Given the description of an element on the screen output the (x, y) to click on. 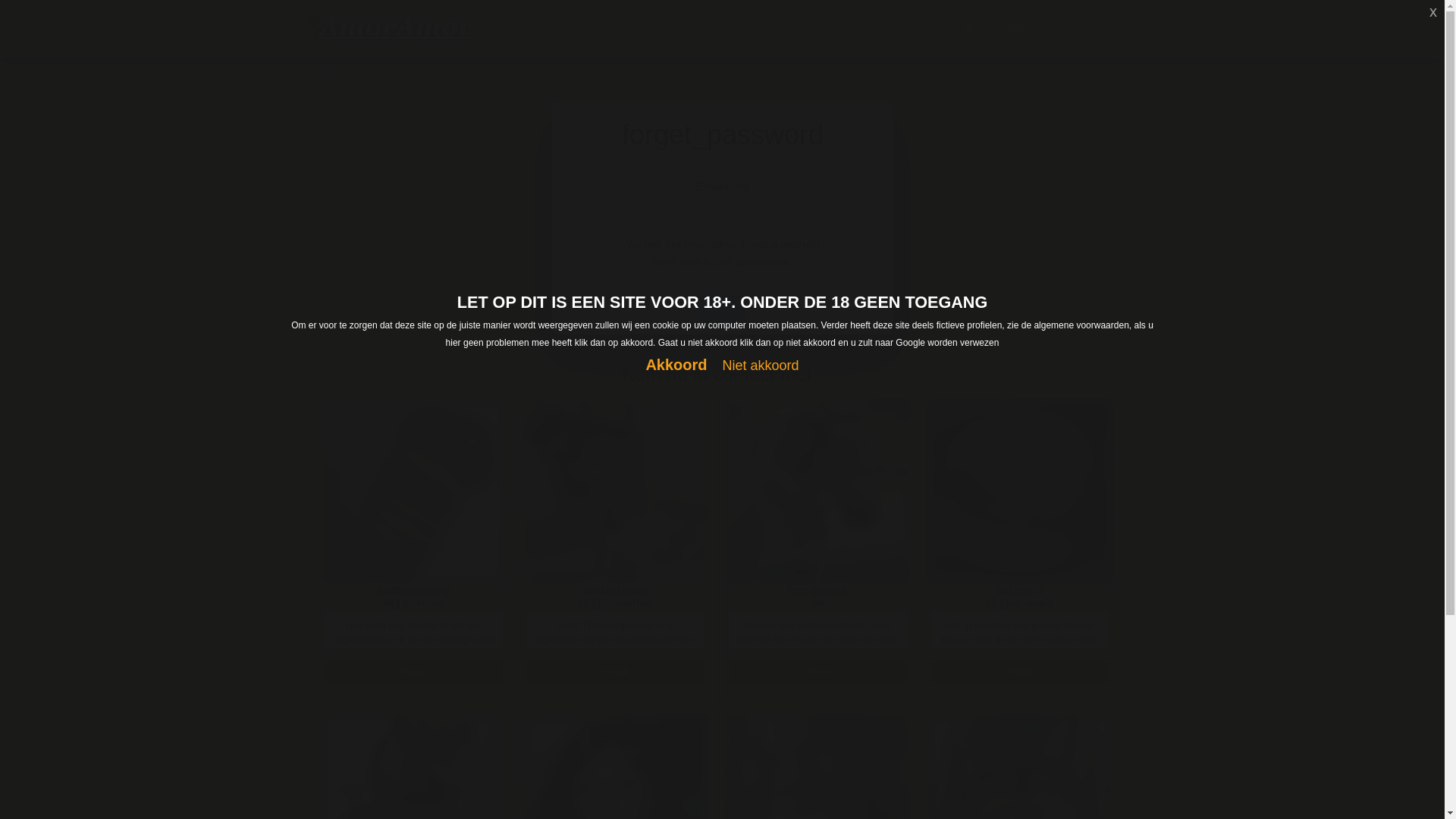
Aanmelden Element type: text (1067, 28)
(current) Element type: text (968, 28)
x Element type: text (1432, 11)
Stuur Element type: text (721, 308)
Akkoord Element type: text (675, 364)
Info Element type: text (1122, 28)
Bekijk Element type: text (817, 672)
Niet akkoord Element type: text (760, 365)
Inloggen Element type: text (1006, 28)
Bekijk Element type: text (1019, 672)
Bekijk Element type: text (413, 672)
Bekijk Element type: text (615, 672)
